Given the description of an element on the screen output the (x, y) to click on. 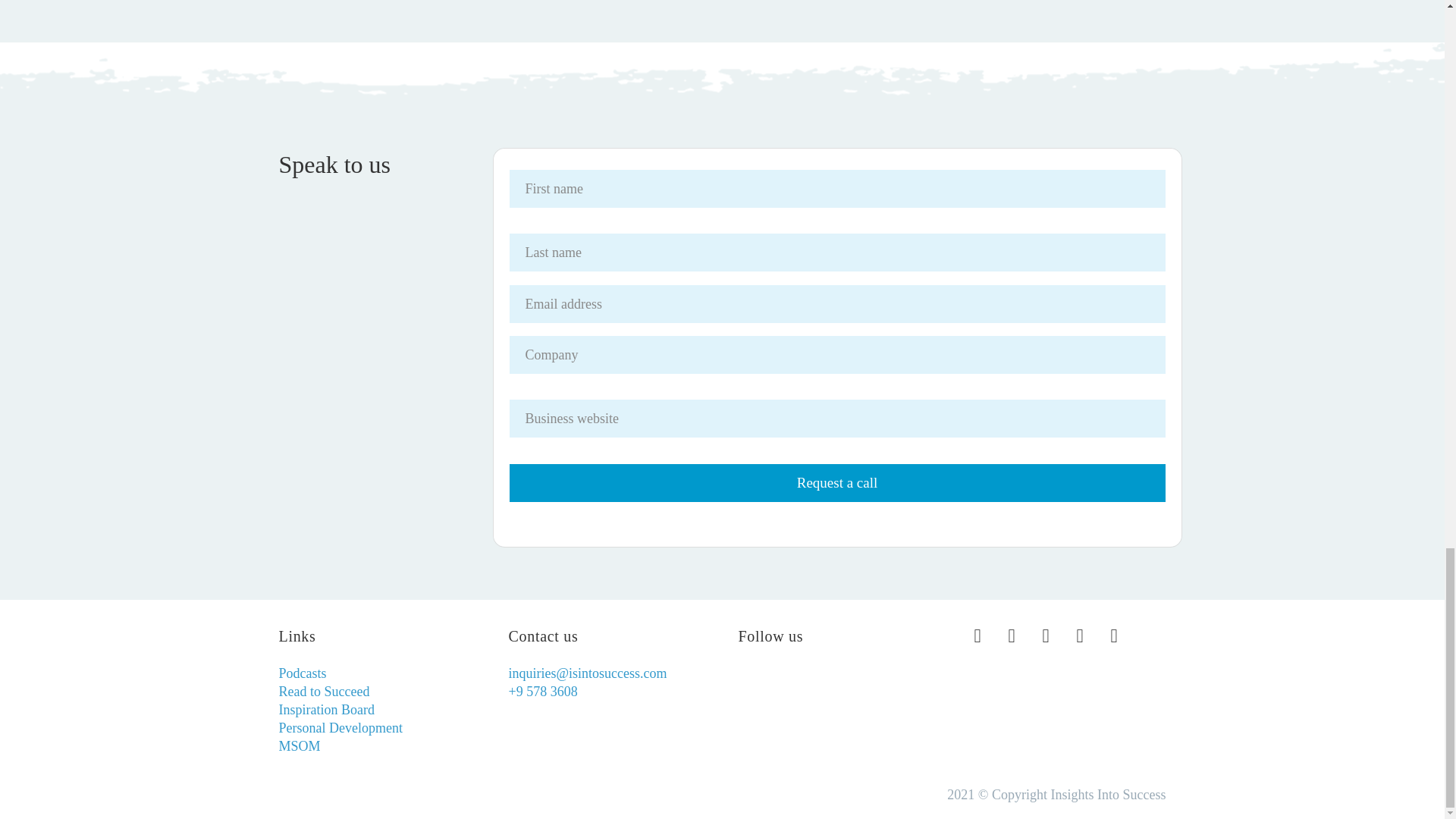
Request a call (837, 483)
Personal Development (341, 727)
Inspiration Board (326, 709)
Podcasts (302, 672)
Read to Succeed (324, 691)
MSOM (299, 745)
Request a call (837, 483)
